Given the description of an element on the screen output the (x, y) to click on. 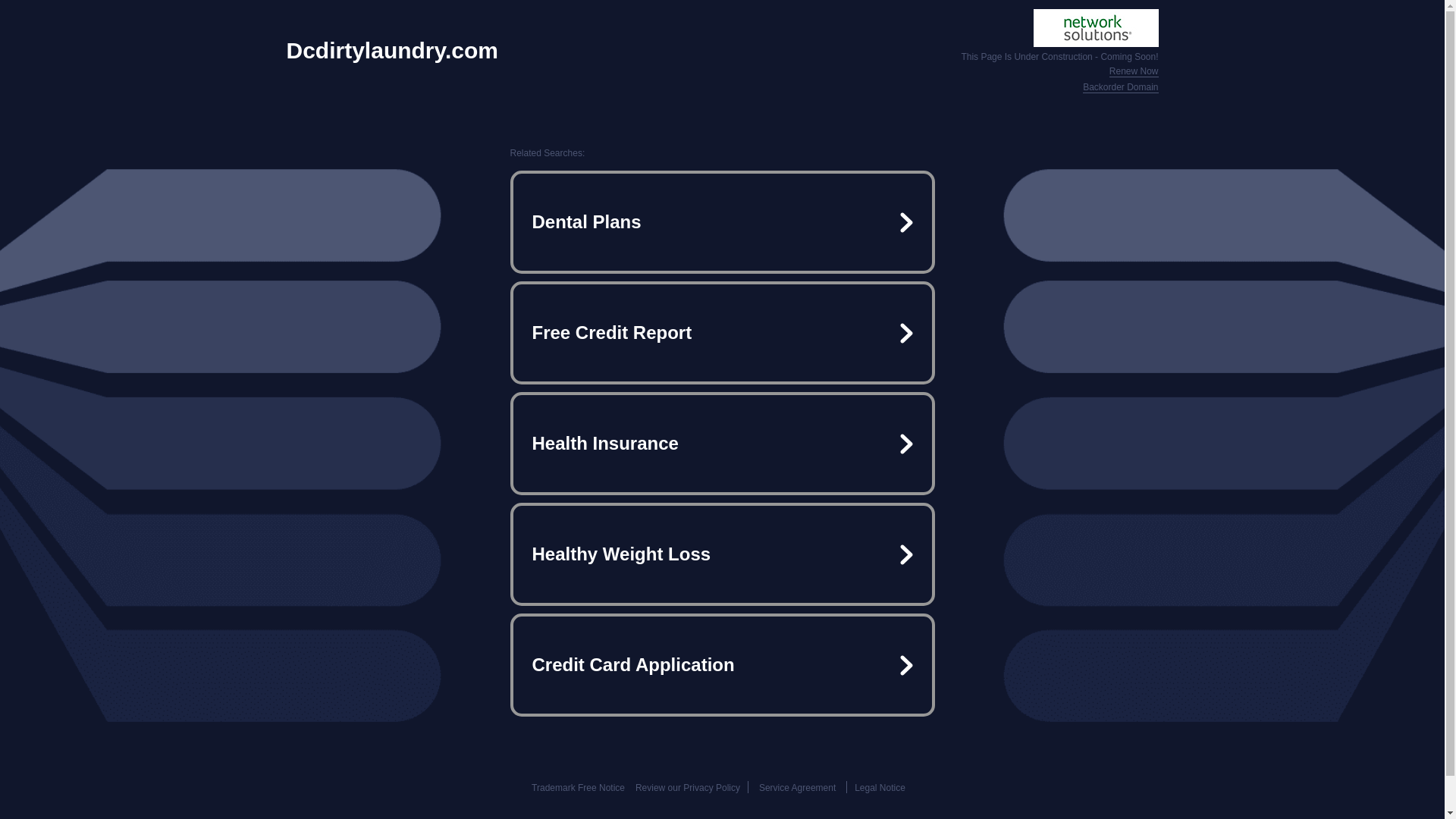
Free Credit Report (721, 332)
Backorder Domain (1120, 87)
Credit Card Application (721, 664)
Credit Card Application (721, 664)
Service Agreement (796, 787)
Review our Privacy Policy (686, 787)
Dental Plans (721, 222)
Legal Notice (879, 787)
Healthy Weight Loss (721, 554)
Health Insurance (721, 443)
Dental Plans (721, 222)
Dcdirtylaundry.com (392, 50)
Health Insurance (721, 443)
Healthy Weight Loss (721, 554)
Trademark Free Notice (577, 787)
